Given the description of an element on the screen output the (x, y) to click on. 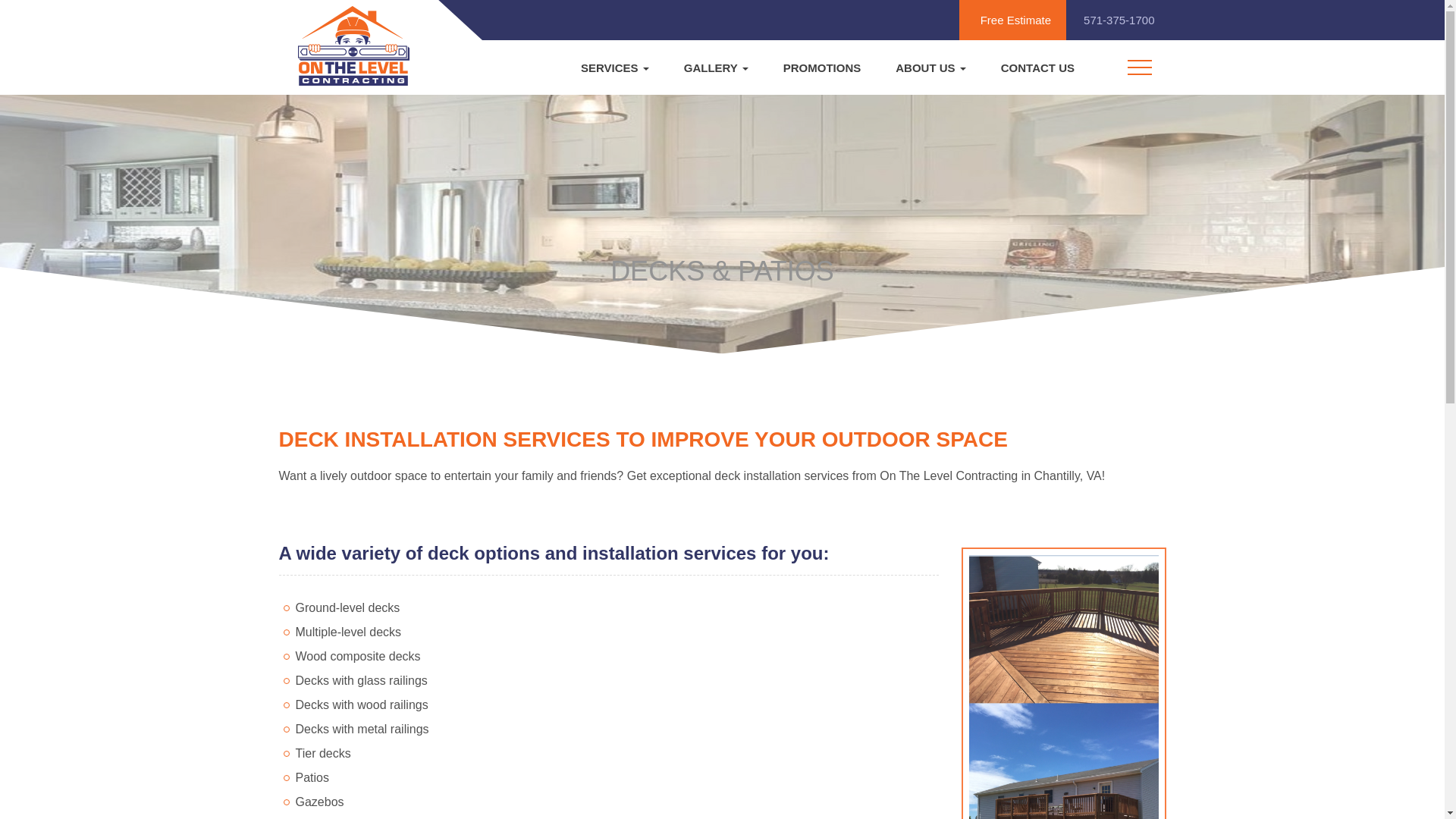
Services (614, 67)
SERVICES (614, 67)
571-375-1700 (1115, 20)
Gallery (716, 67)
ABOUT US (930, 67)
GALLERY (716, 67)
Free Estimate (1012, 20)
CONTACT US (1037, 67)
PROMOTIONS (821, 67)
